Given the description of an element on the screen output the (x, y) to click on. 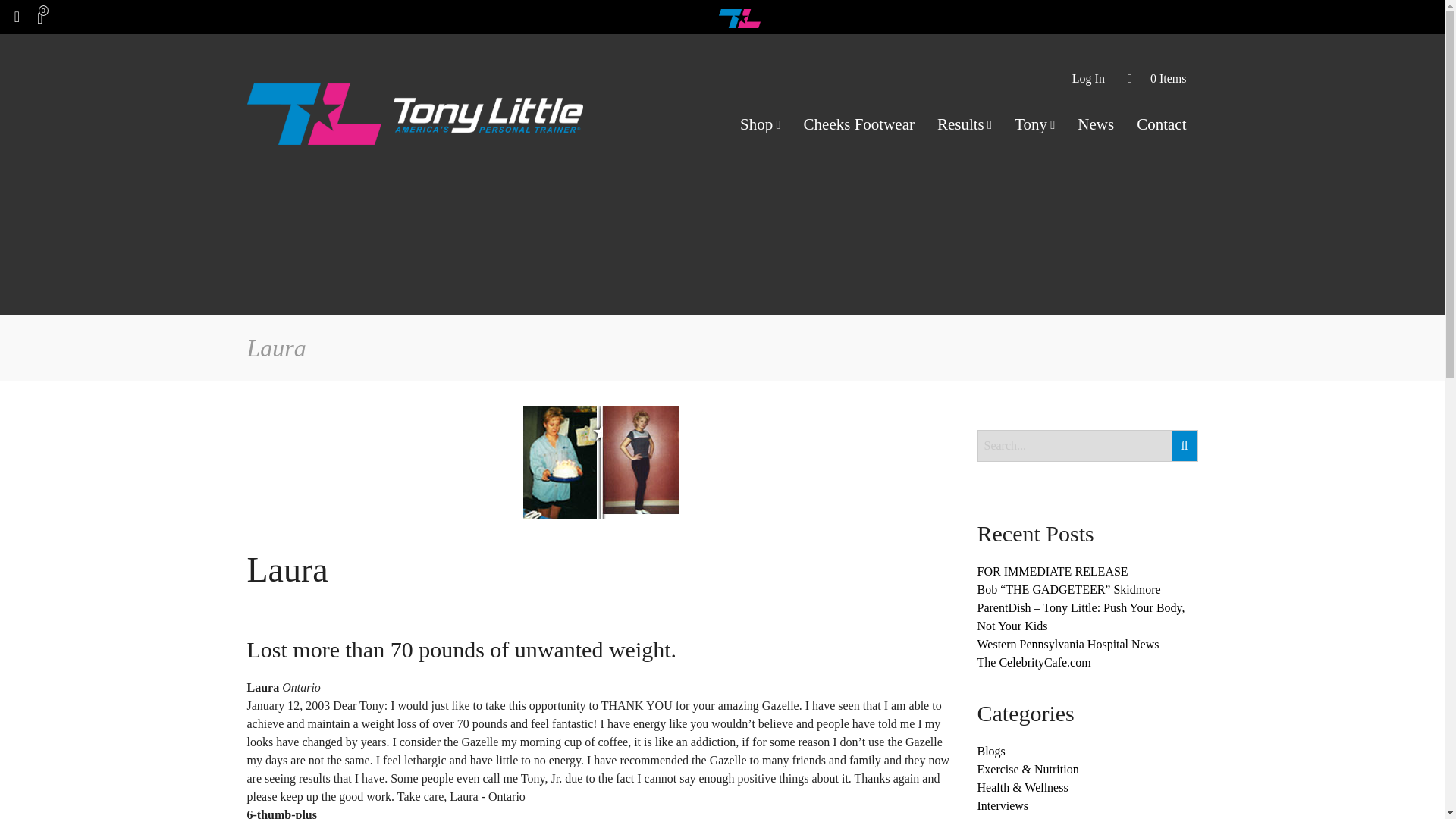
Tony Little (739, 16)
Shop (760, 124)
Tony Little (415, 112)
Search... (1086, 445)
Contact (1160, 124)
View your shopping cart (1157, 78)
News (1095, 124)
Search... (1086, 445)
Log In (1088, 78)
0 (50, 17)
View your shopping cart (50, 17)
Results (964, 124)
Cheeks Footwear (859, 124)
Tony (1034, 124)
Log In (1088, 78)
